Given the description of an element on the screen output the (x, y) to click on. 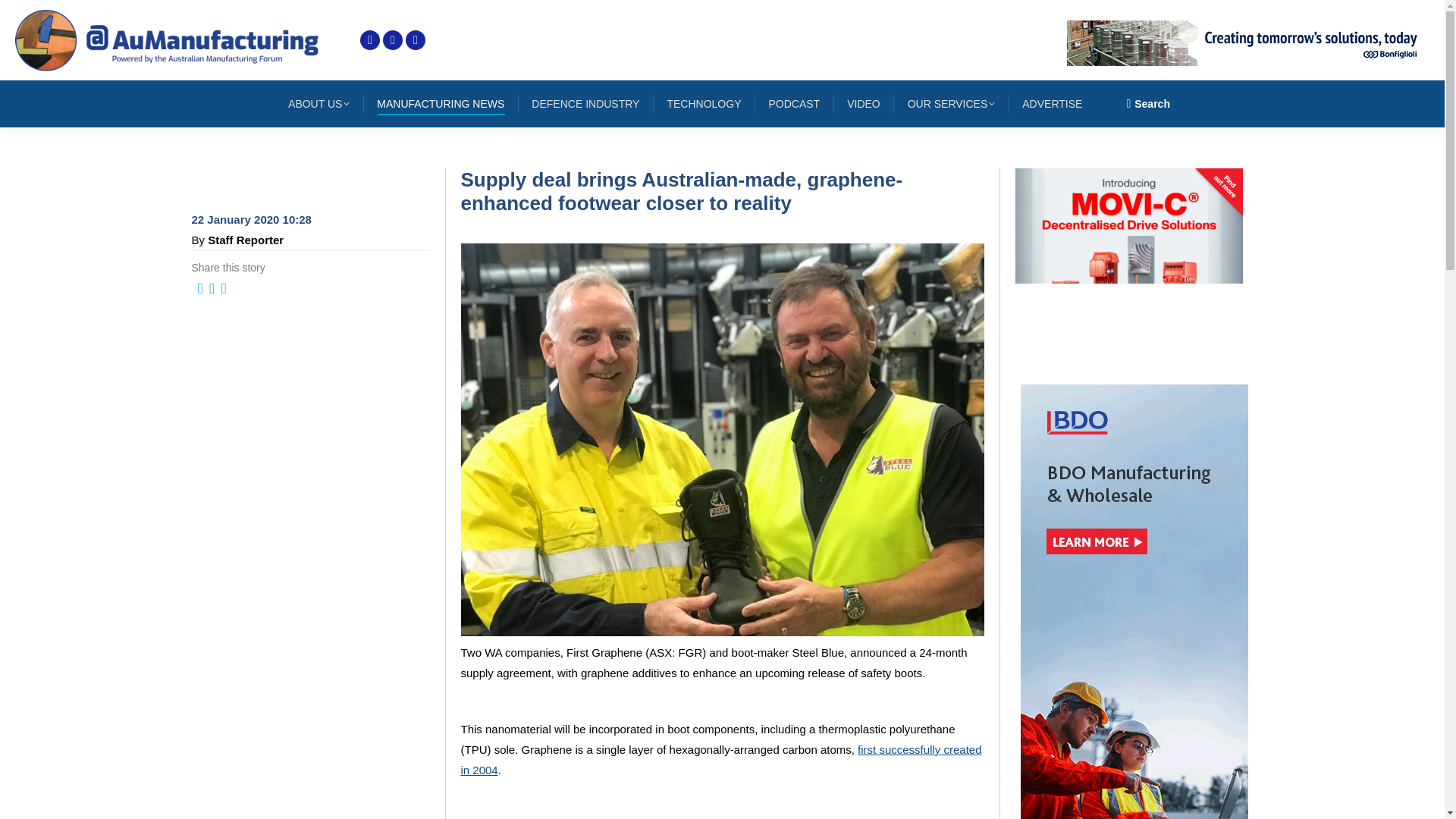
Linkedin page opens in new window (392, 39)
OUR SERVICES (951, 103)
YouTube page opens in new window (415, 39)
PODCAST (793, 103)
TECHNOLOGY (703, 103)
ADVERTISE (1051, 103)
DEFENCE INDUSTRY (585, 103)
MANUFACTURING NEWS (440, 103)
Go! (24, 16)
YouTube page opens in new window (415, 39)
ABOUT US (318, 103)
X page opens in new window (369, 39)
X page opens in new window (369, 39)
VIDEO (863, 103)
Search (1147, 103)
